Given the description of an element on the screen output the (x, y) to click on. 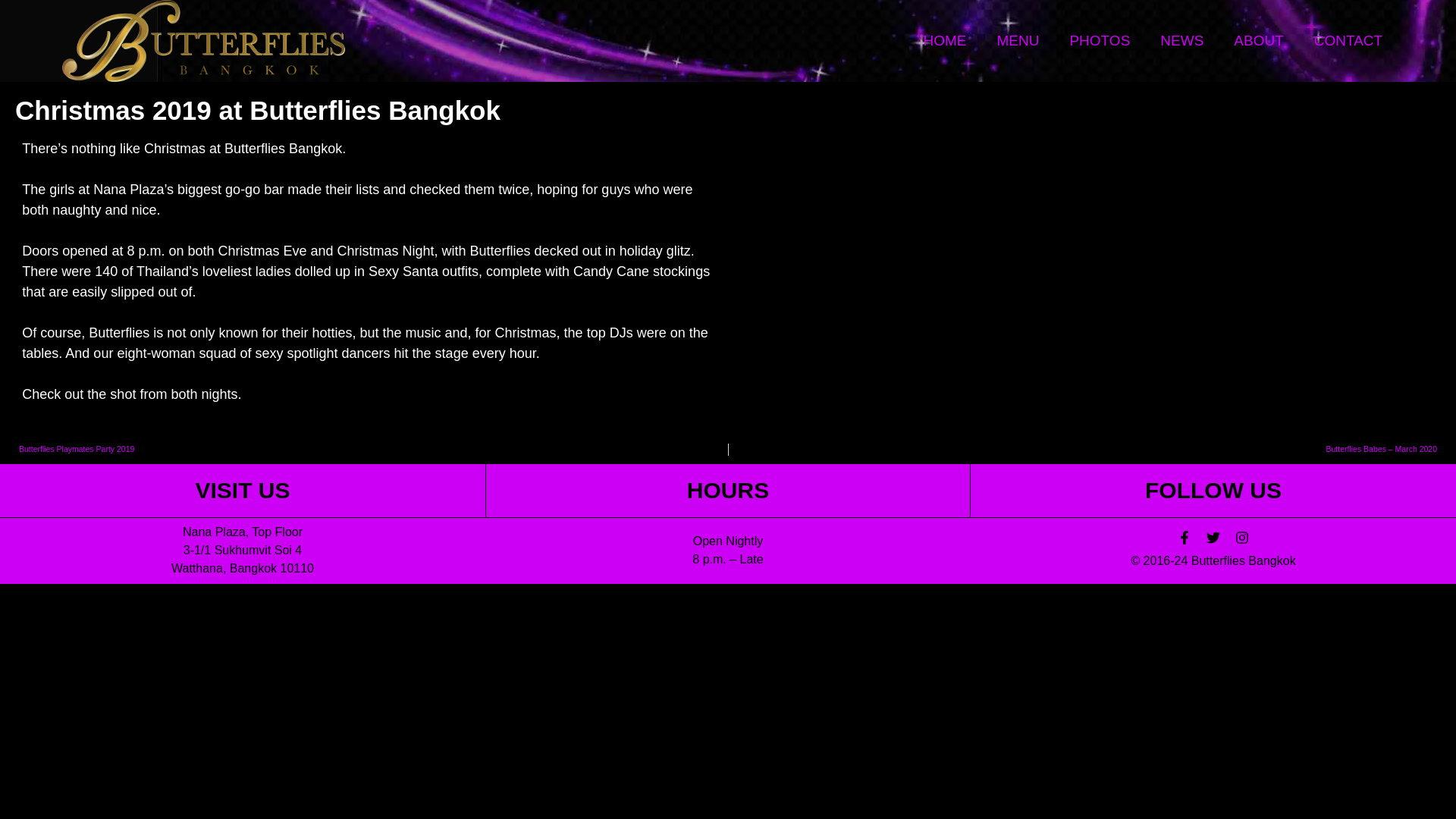
Butterflies Playmates Party 2019 (367, 449)
HOME (944, 40)
MENU (1017, 40)
CONTACT (1347, 40)
NEWS (1181, 40)
PHOTOS (1099, 40)
ABOUT (1258, 40)
